Given the description of an element on the screen output the (x, y) to click on. 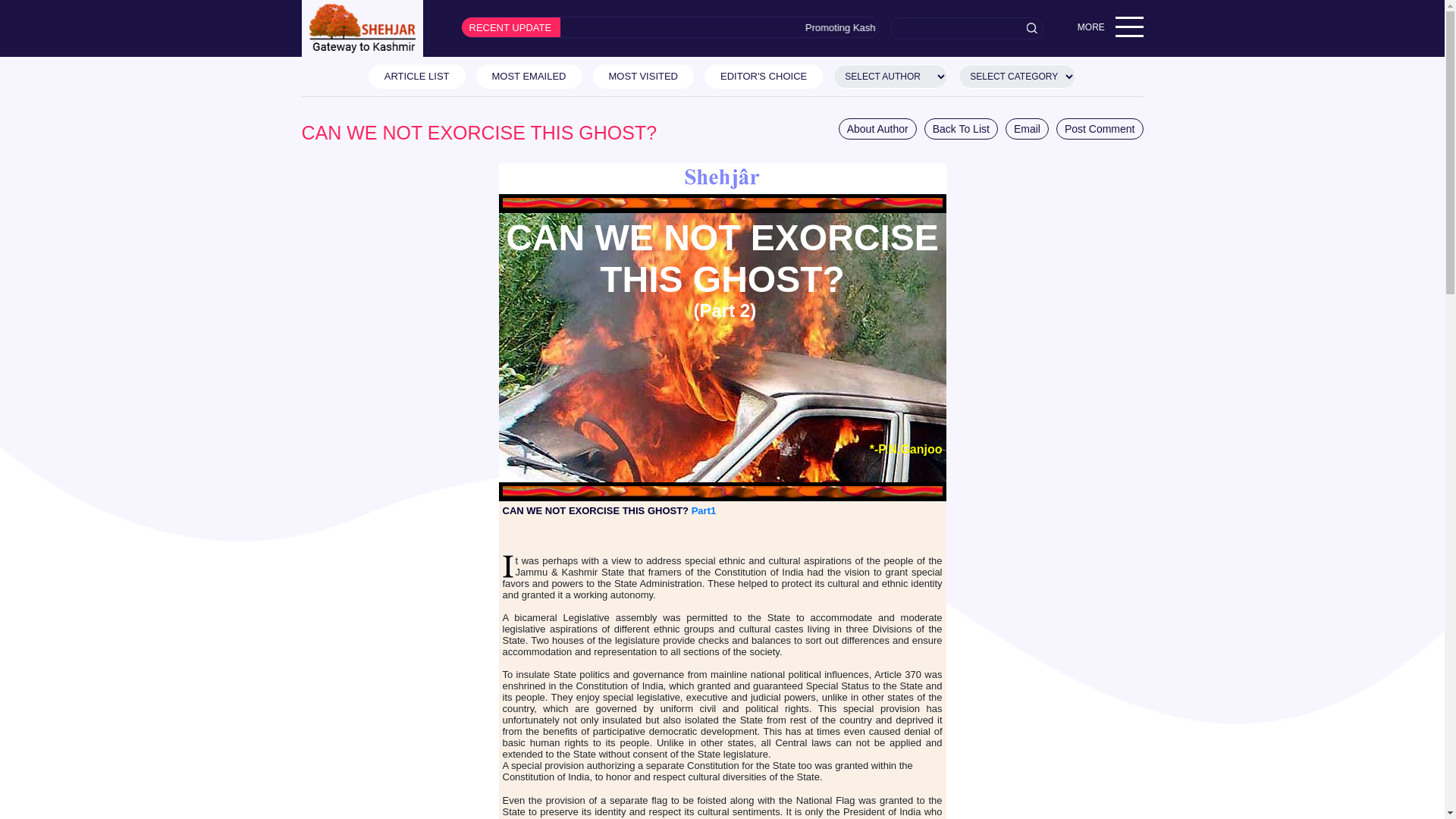
EDITOR'S CHOICE (763, 76)
Email (1027, 128)
About Author (877, 128)
Post Comment (1099, 128)
MOST EMAILED (529, 76)
MOST VISITED (643, 76)
Back To List (960, 128)
ARTICLE LIST (416, 76)
Part1 (703, 510)
